Given the description of an element on the screen output the (x, y) to click on. 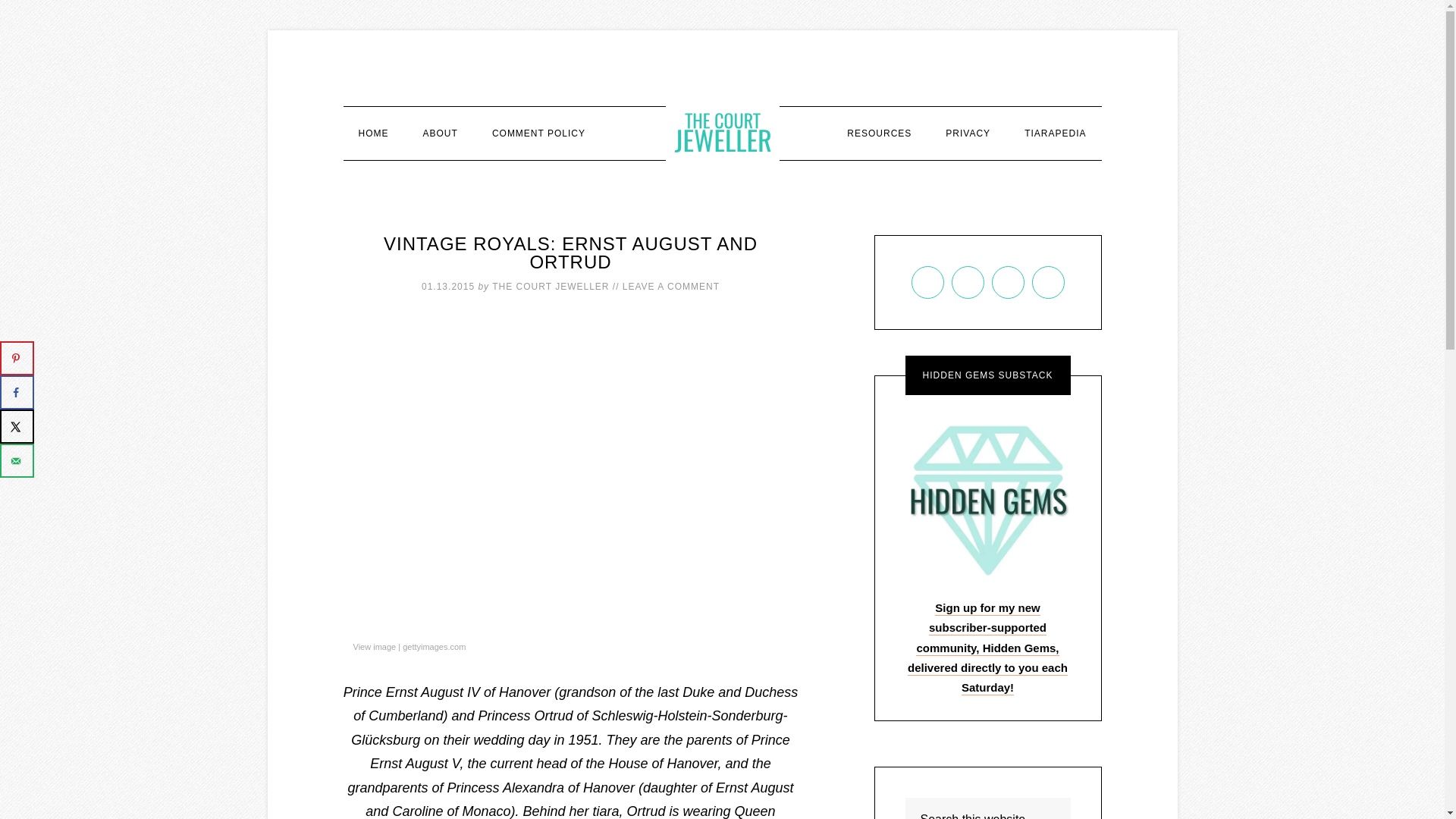
ABOUT (440, 133)
COMMENT POLICY (538, 133)
gettyimages.com (434, 647)
Save to Pinterest (16, 358)
LEAVE A COMMENT (671, 286)
Instagram (1007, 282)
Twitter (1047, 282)
THE COURT JEWELLER (721, 132)
